Given the description of an element on the screen output the (x, y) to click on. 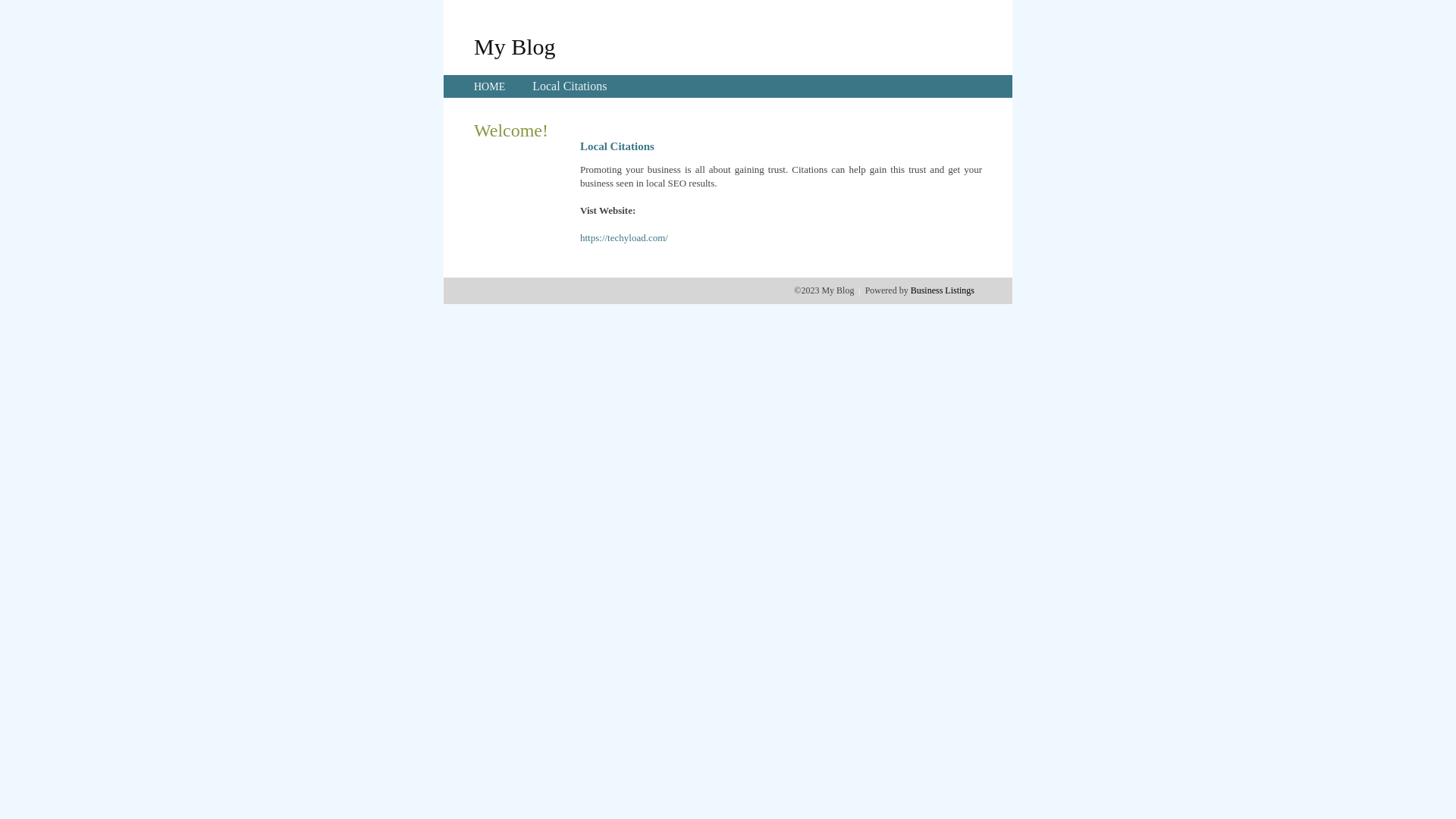
My Blog Element type: text (514, 46)
https://techyload.com/ Element type: text (624, 237)
Business Listings Element type: text (942, 290)
Local Citations Element type: text (569, 85)
HOME Element type: text (489, 86)
